Given the description of an element on the screen output the (x, y) to click on. 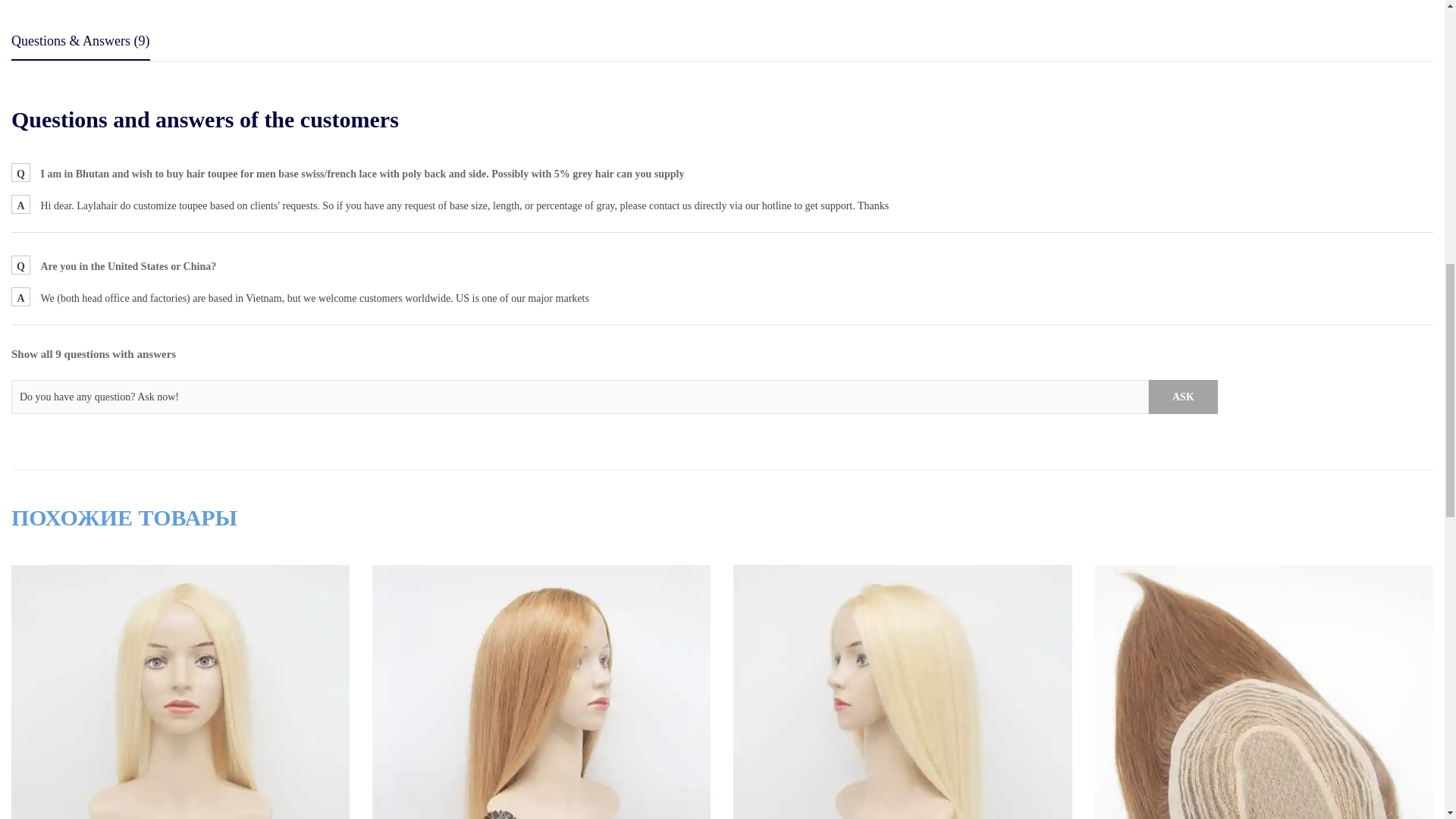
Ask (1182, 397)
Ask your question (1182, 397)
Show all 9 questions with answers (93, 354)
